Given the description of an element on the screen output the (x, y) to click on. 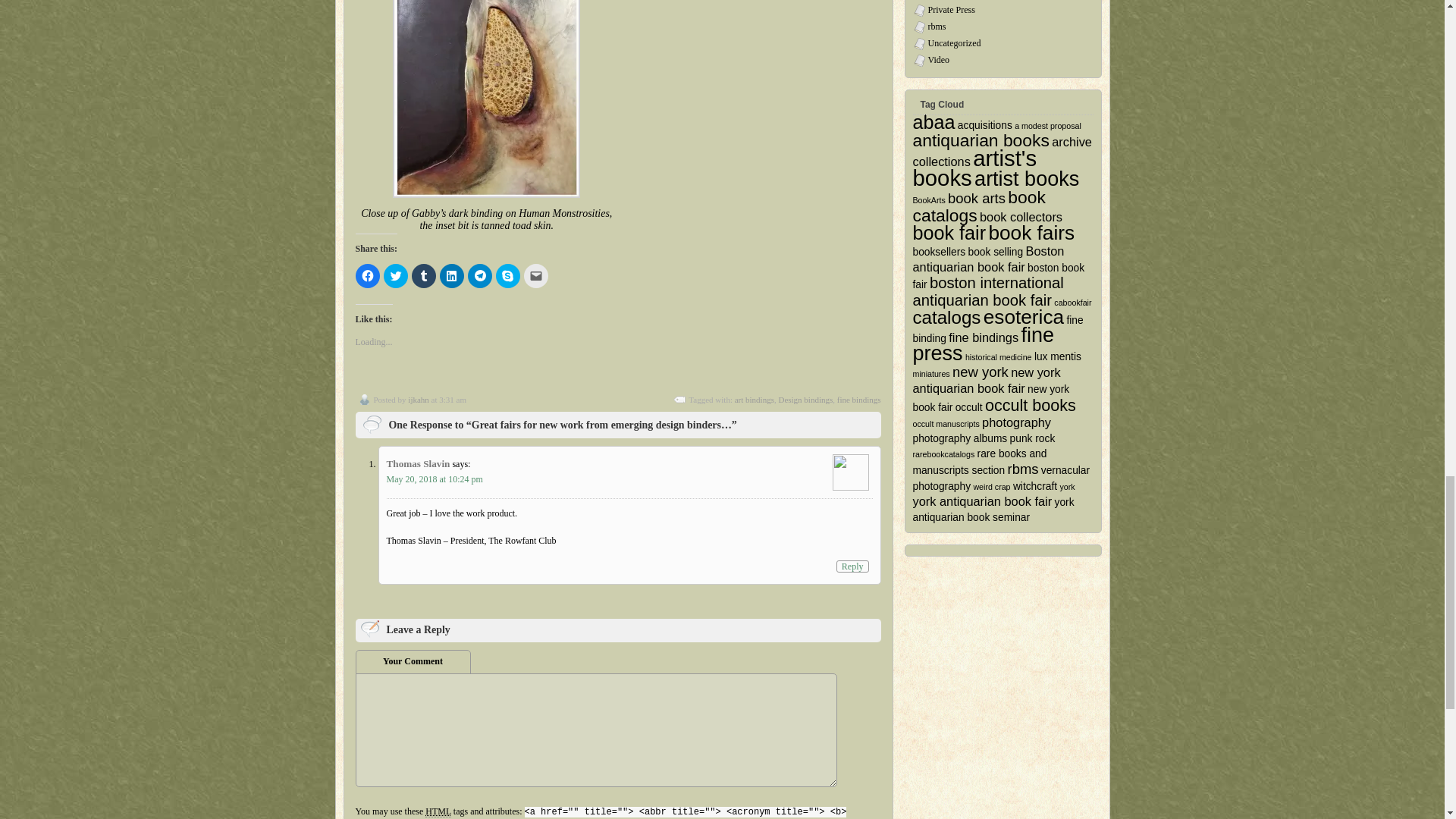
ijkahn (418, 399)
Click to share on Tumblr (422, 275)
Click to share on Twitter (395, 275)
Click to share on Telegram (479, 275)
Click to share on LinkedIn (451, 275)
Click to share on Skype (507, 275)
Click to share on Facebook (366, 275)
